Given the description of an element on the screen output the (x, y) to click on. 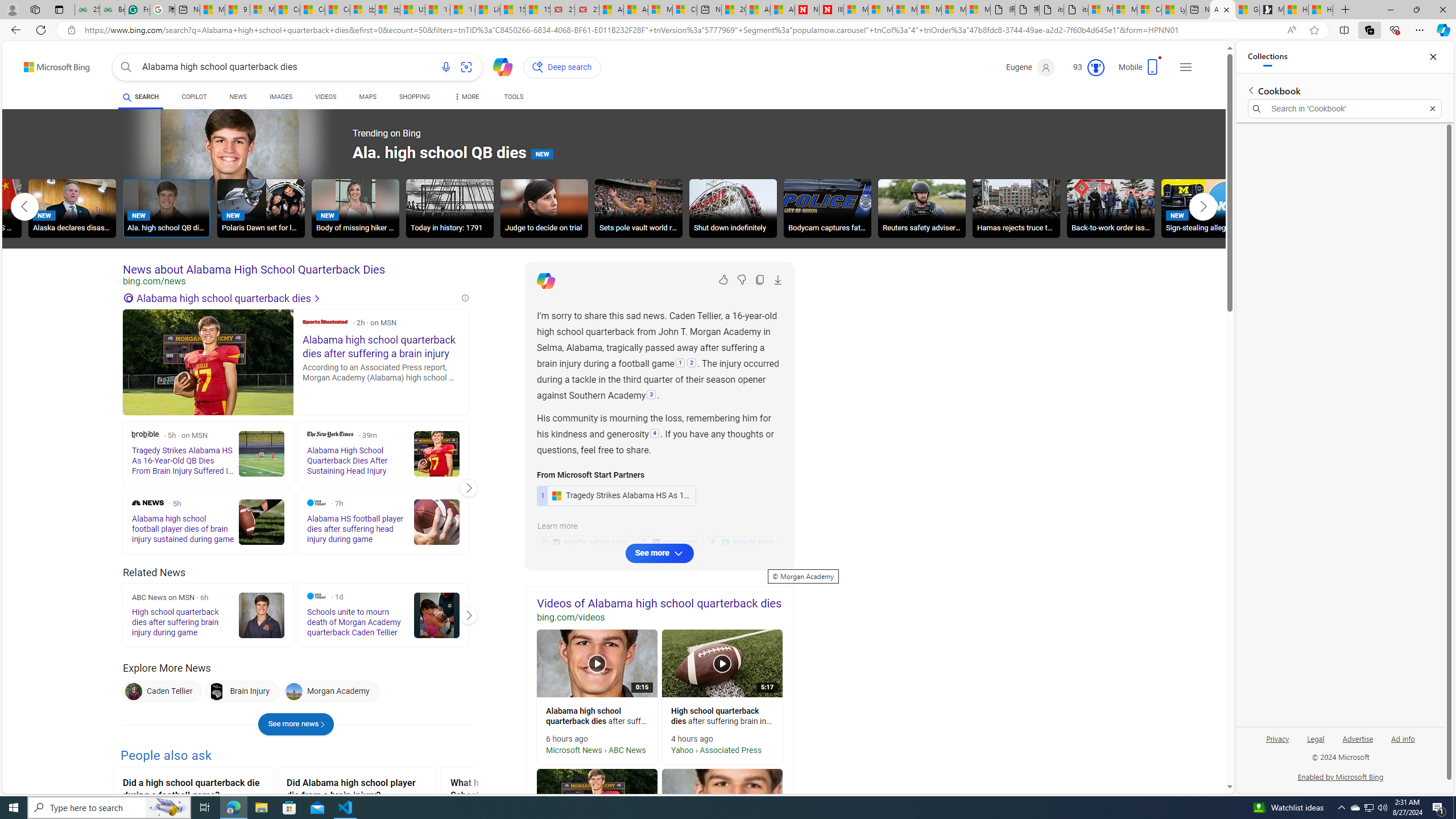
Did a high school quarterback die during a football game? (192, 791)
COPILOT (193, 96)
What happened to a Selma High School quarterback? (520, 791)
Did Alabama high school player die from a brain injury? (357, 791)
Related News (153, 572)
